Given the description of an element on the screen output the (x, y) to click on. 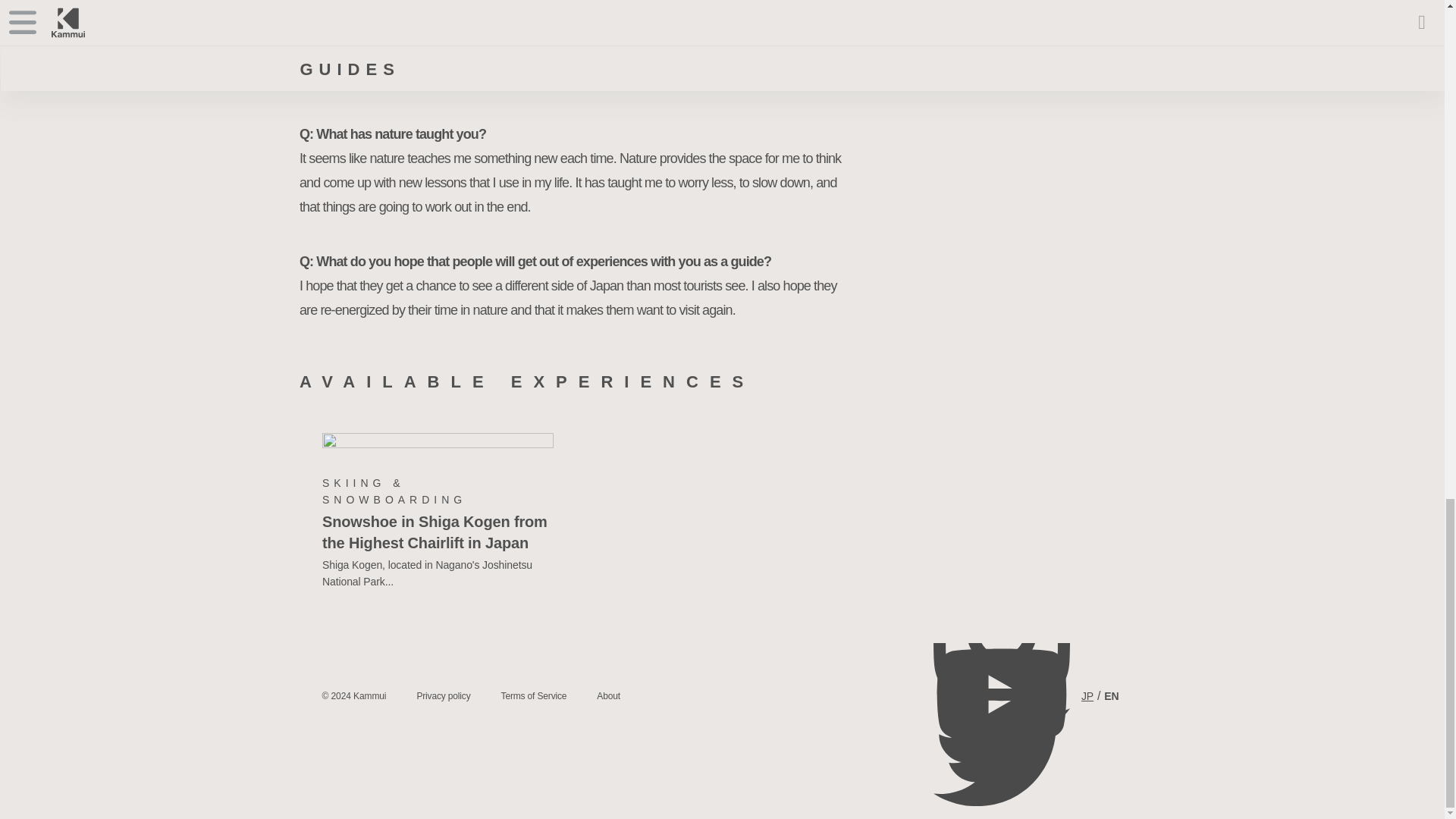
Privacy policy (443, 695)
About (608, 695)
Terms of Service (533, 695)
